Given the description of an element on the screen output the (x, y) to click on. 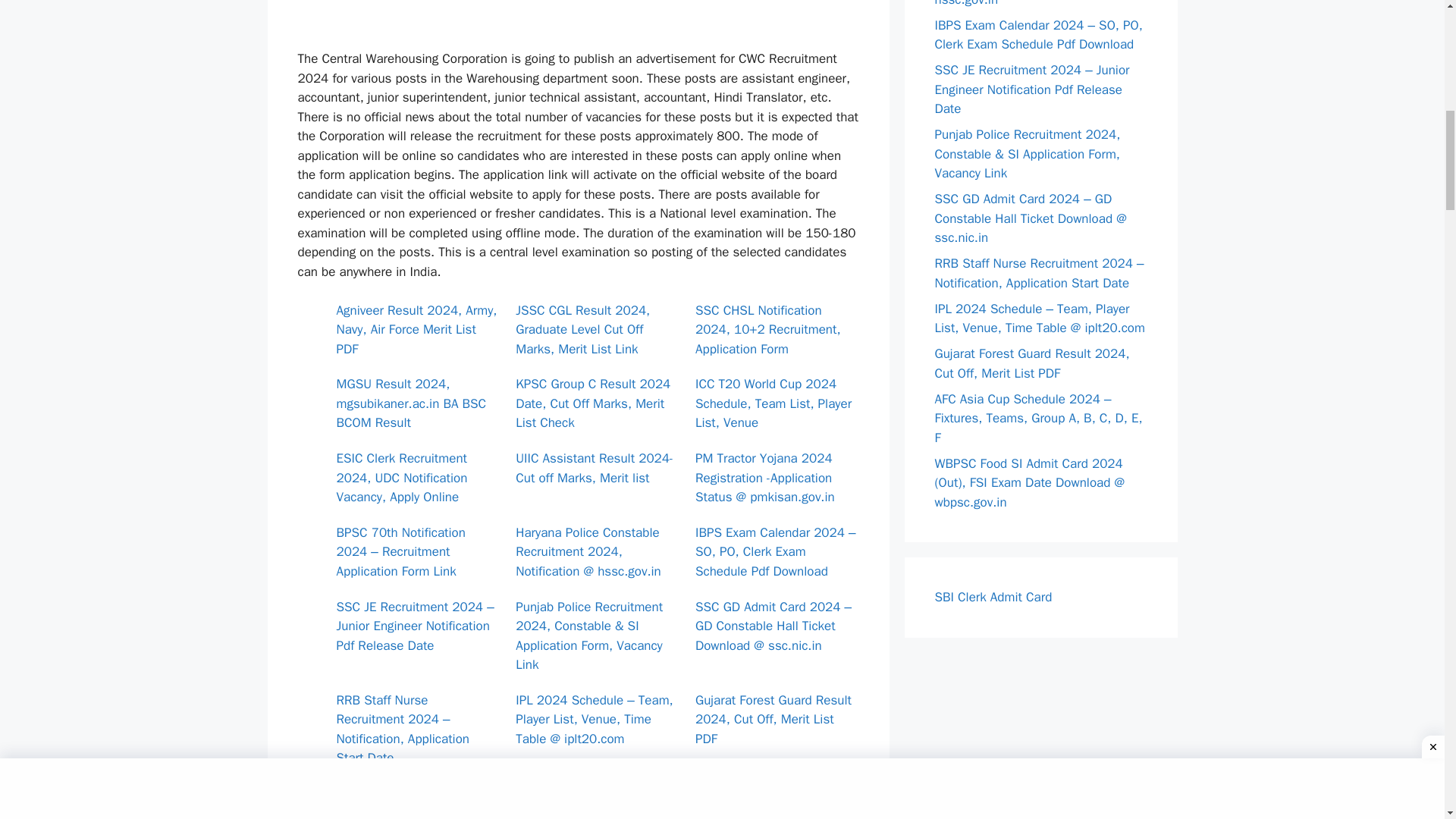
Agniveer Result 2024, Army, Navy, Air Force Merit List PDF (416, 329)
Gujarat Forest Guard Result 2024, Cut Off, Merit List PDF (773, 719)
Advertisement (578, 21)
MGSU Result 2024, mgsubikaner.ac.in BA BSC BCOM Result (411, 402)
UIIC Assistant Result 2024- Cut off Marks, Merit list (593, 468)
